Given the description of an element on the screen output the (x, y) to click on. 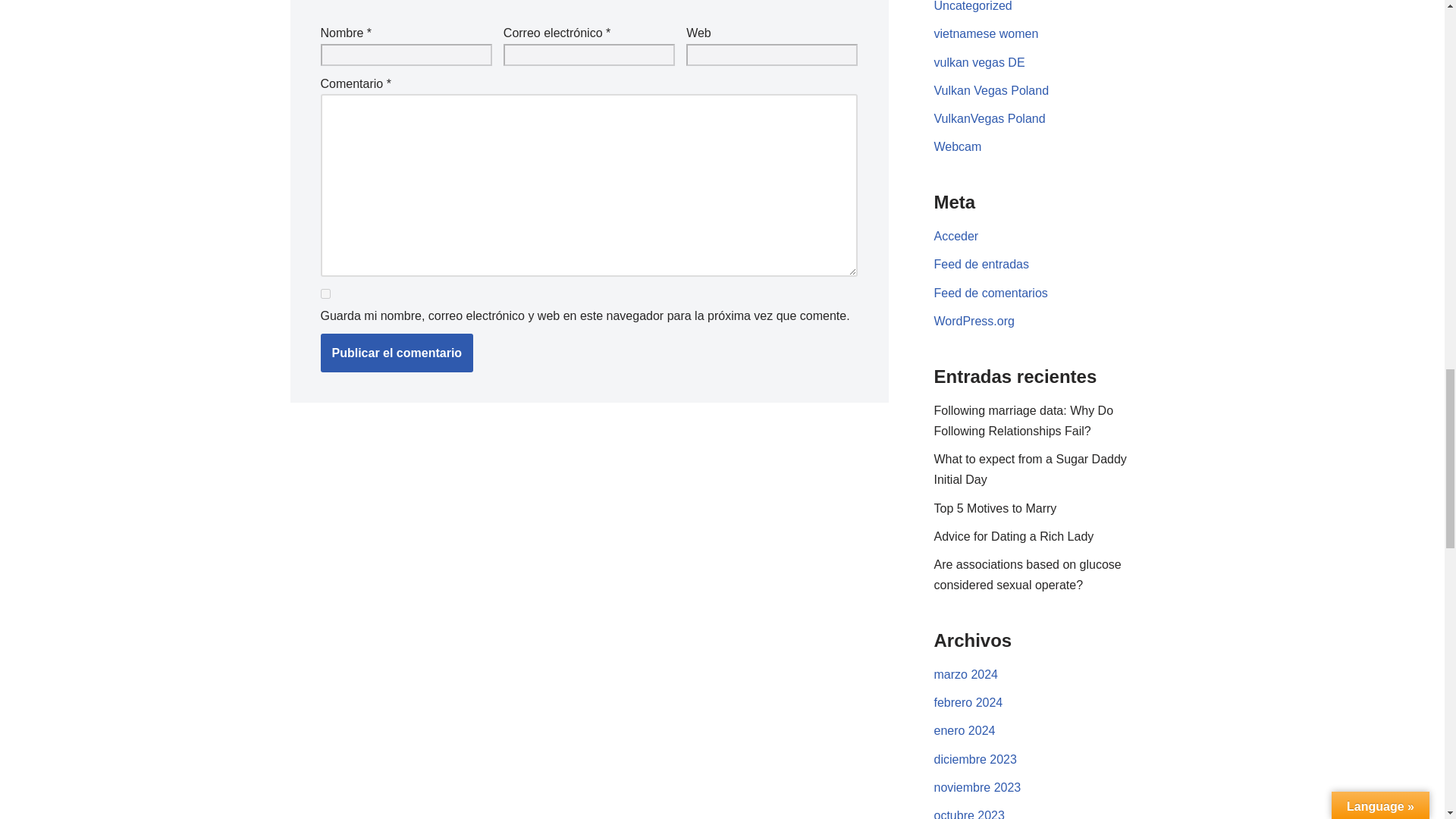
Publicar el comentario (396, 353)
Publicar el comentario (396, 353)
yes (325, 293)
